Given the description of an element on the screen output the (x, y) to click on. 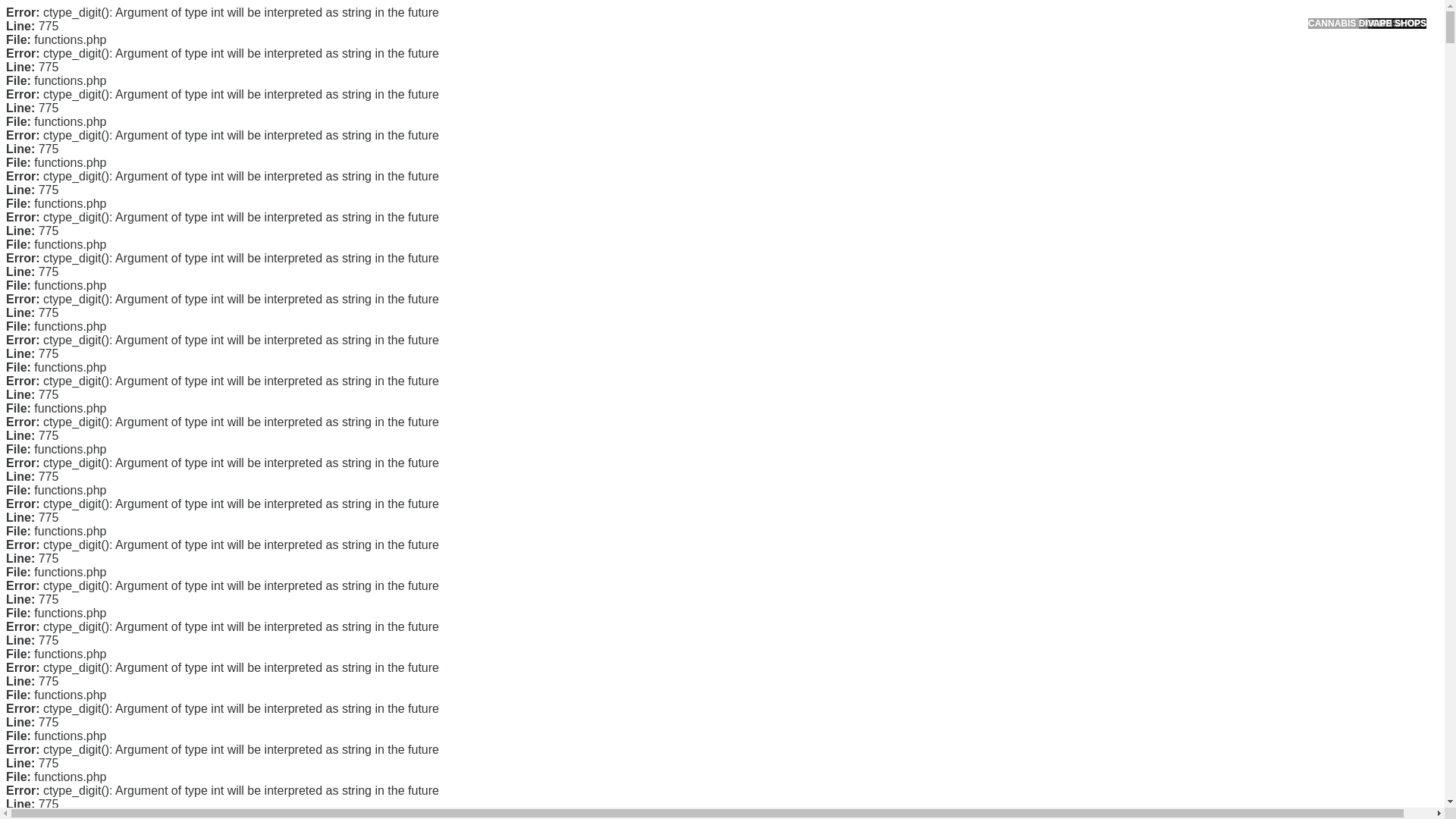
Contact Us (991, 258)
Privacy Policy (999, 306)
Search for: (1049, 47)
he has a good point (565, 328)
August 2020 (996, 432)
ADMINISTRATOR (417, 118)
Search (1050, 85)
Terms of Use (996, 330)
Blog (976, 510)
Search (1050, 85)
Disclaimer (990, 354)
Latest Article (996, 172)
Skip to content (34, 9)
DMCA Policy (996, 282)
INSIDEOFMYPURSE.COM (421, 28)
